Given the description of an element on the screen output the (x, y) to click on. 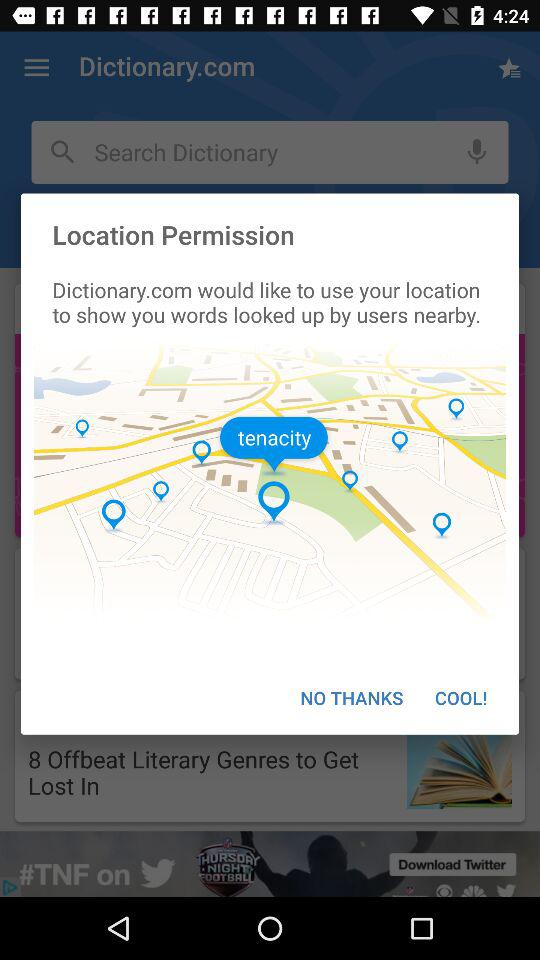
tap the no thanks (351, 697)
